Given the description of an element on the screen output the (x, y) to click on. 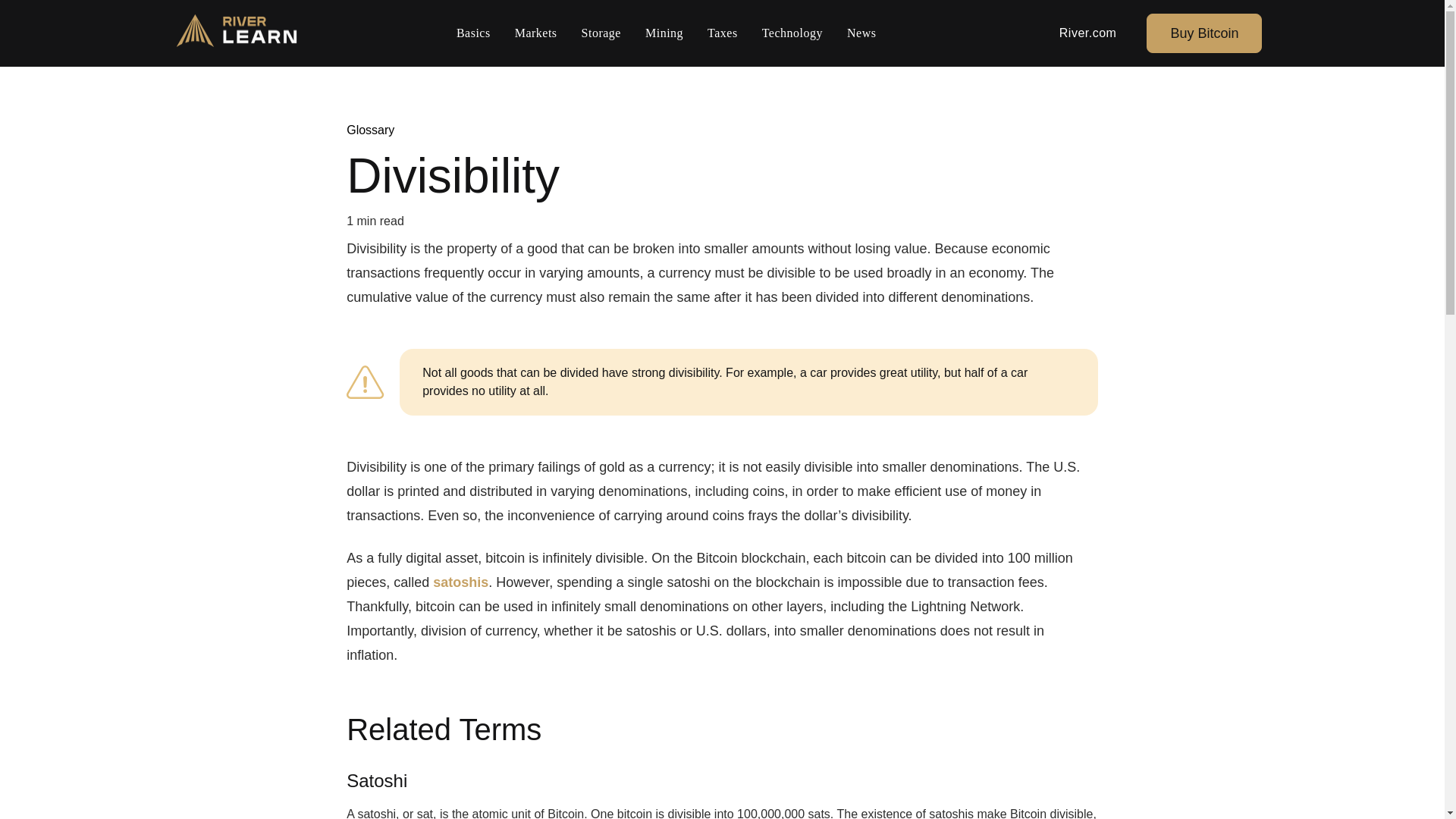
Taxes (722, 33)
Glossary (370, 129)
River.com (1088, 33)
Technology (791, 33)
Markets (535, 33)
News (861, 33)
satoshis (459, 581)
Basics (473, 33)
Buy Bitcoin (1204, 33)
Mining (664, 33)
Storage (601, 33)
Satoshi (376, 780)
